Given the description of an element on the screen output the (x, y) to click on. 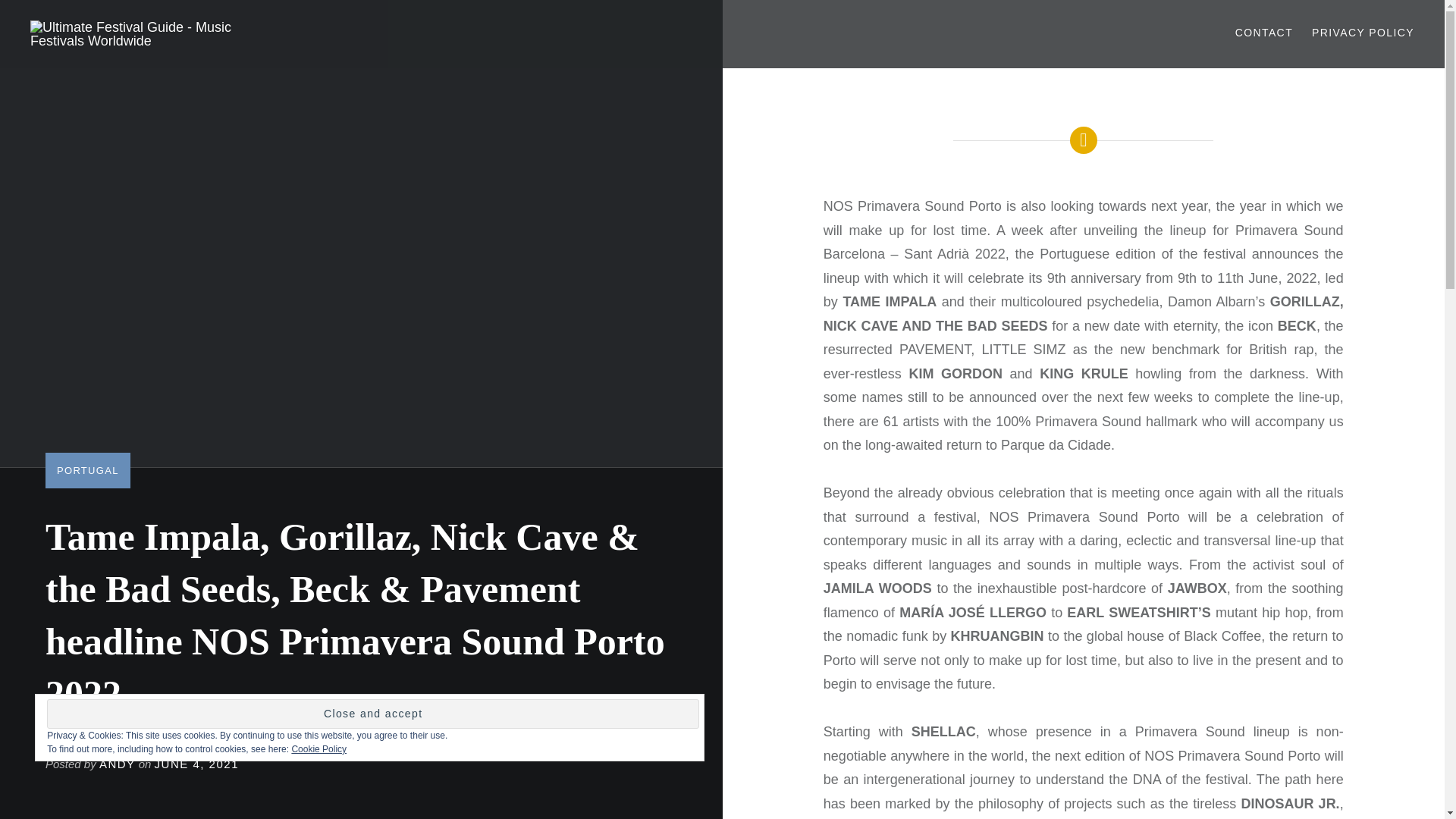
CONTACT (1263, 32)
Close and accept (372, 713)
Close and accept (372, 713)
ANDY (117, 763)
JUNE 4, 2021 (196, 763)
Cookie Policy (318, 748)
PRIVACY POLICY (1362, 32)
PORTUGAL (87, 470)
